Given the description of an element on the screen output the (x, y) to click on. 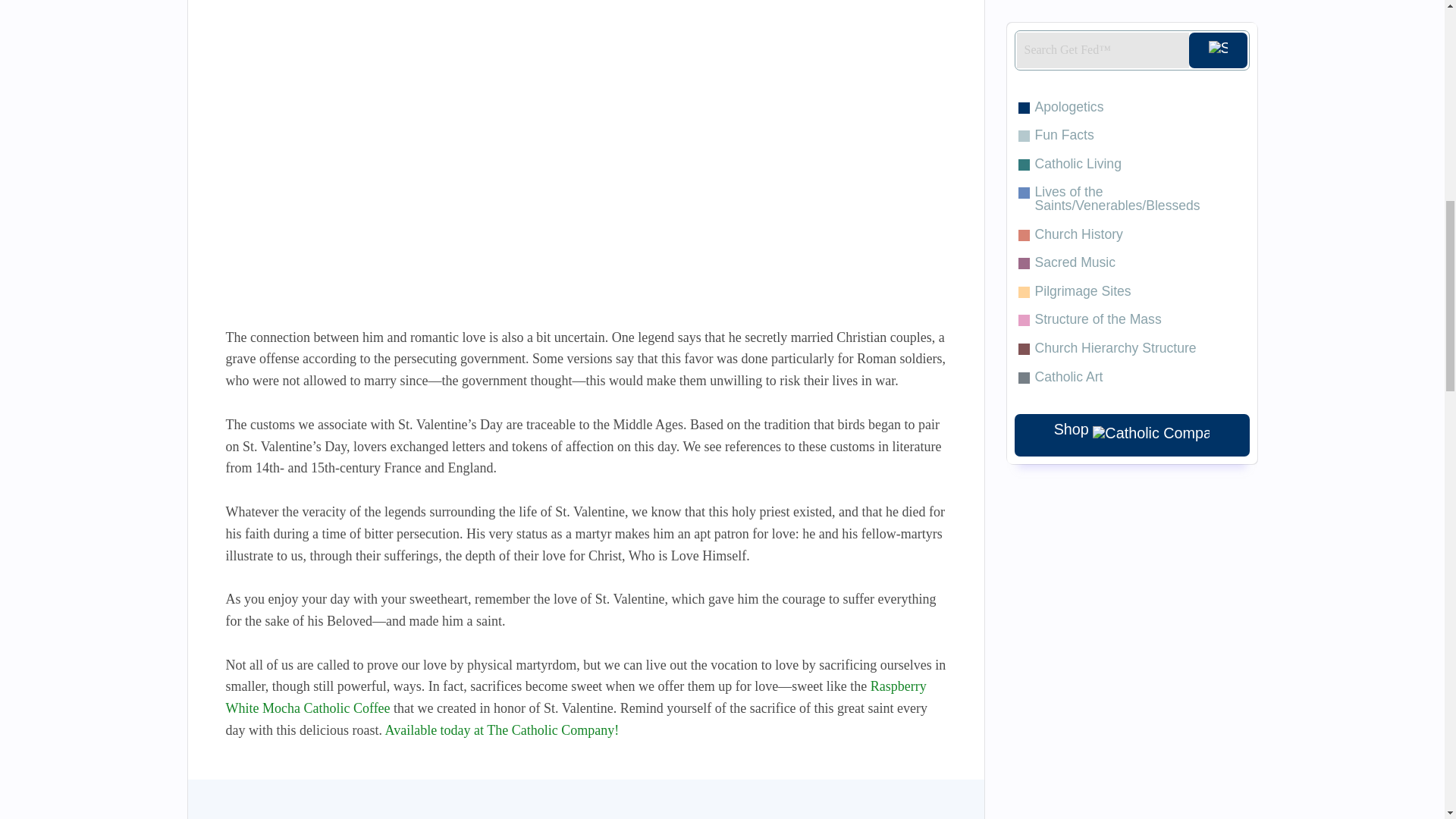
Raspberry White Mocha Catholic Coffee (575, 696)
Available today at The Catholic Company! (501, 729)
